Given the description of an element on the screen output the (x, y) to click on. 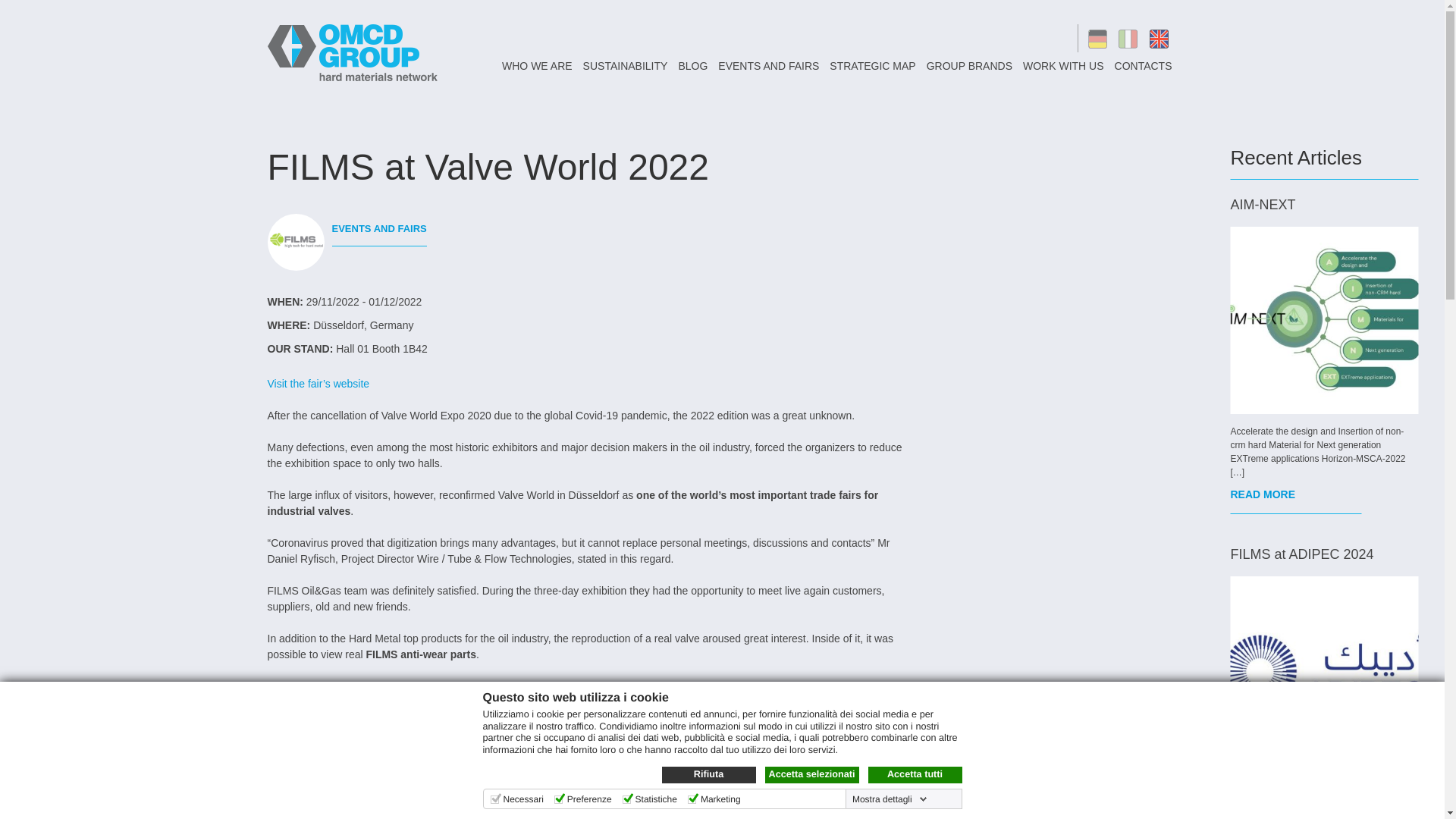
Rifiuta (708, 774)
Accetta selezionati (811, 774)
Mostra dettagli (889, 799)
Accetta tutti (913, 774)
